Given the description of an element on the screen output the (x, y) to click on. 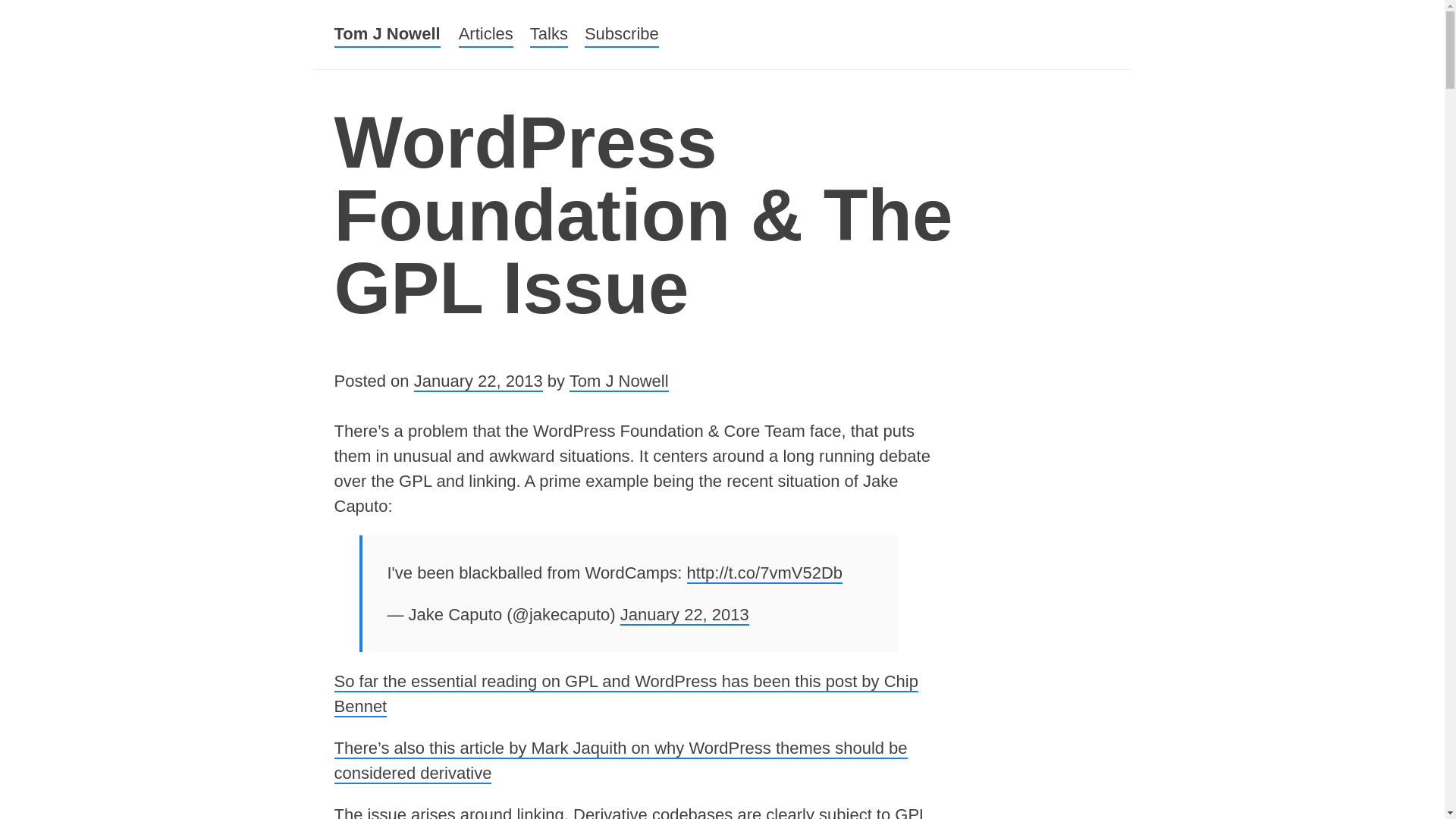
Tom J Nowell (618, 381)
Subscribe (622, 28)
Articles (485, 22)
Skip to content (513, 34)
Talks (548, 26)
7:23 pm (478, 381)
Tom J Nowell (386, 34)
Skip to content (513, 21)
January 22, 2013 (478, 381)
January 22, 2013 (684, 615)
Tom J Nowell (386, 17)
View all posts by Tom J Nowell (618, 381)
